Given the description of an element on the screen output the (x, y) to click on. 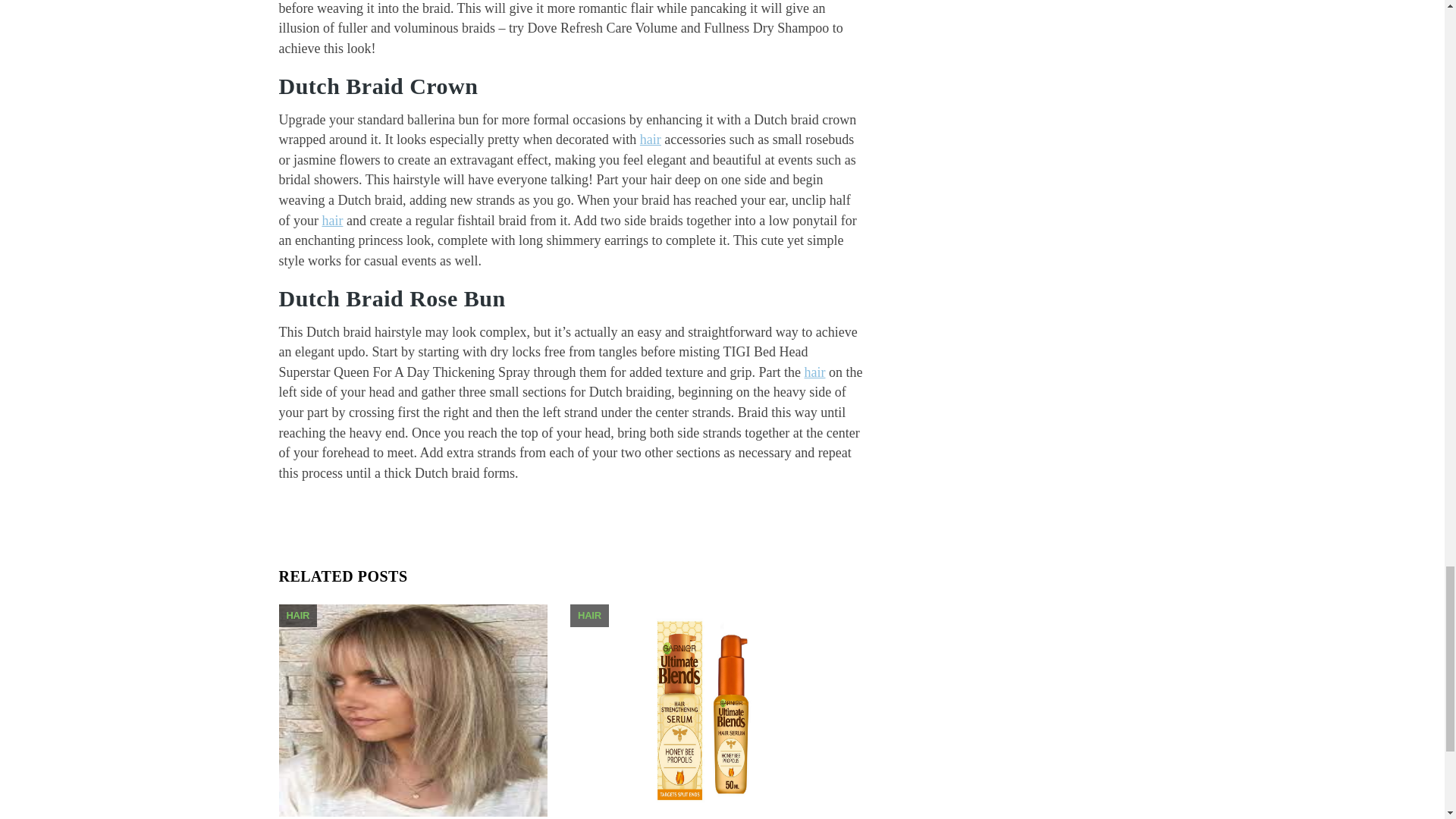
hair (815, 372)
HAIR (589, 614)
hair (650, 139)
hair (331, 220)
HAIR (298, 614)
